Given the description of an element on the screen output the (x, y) to click on. 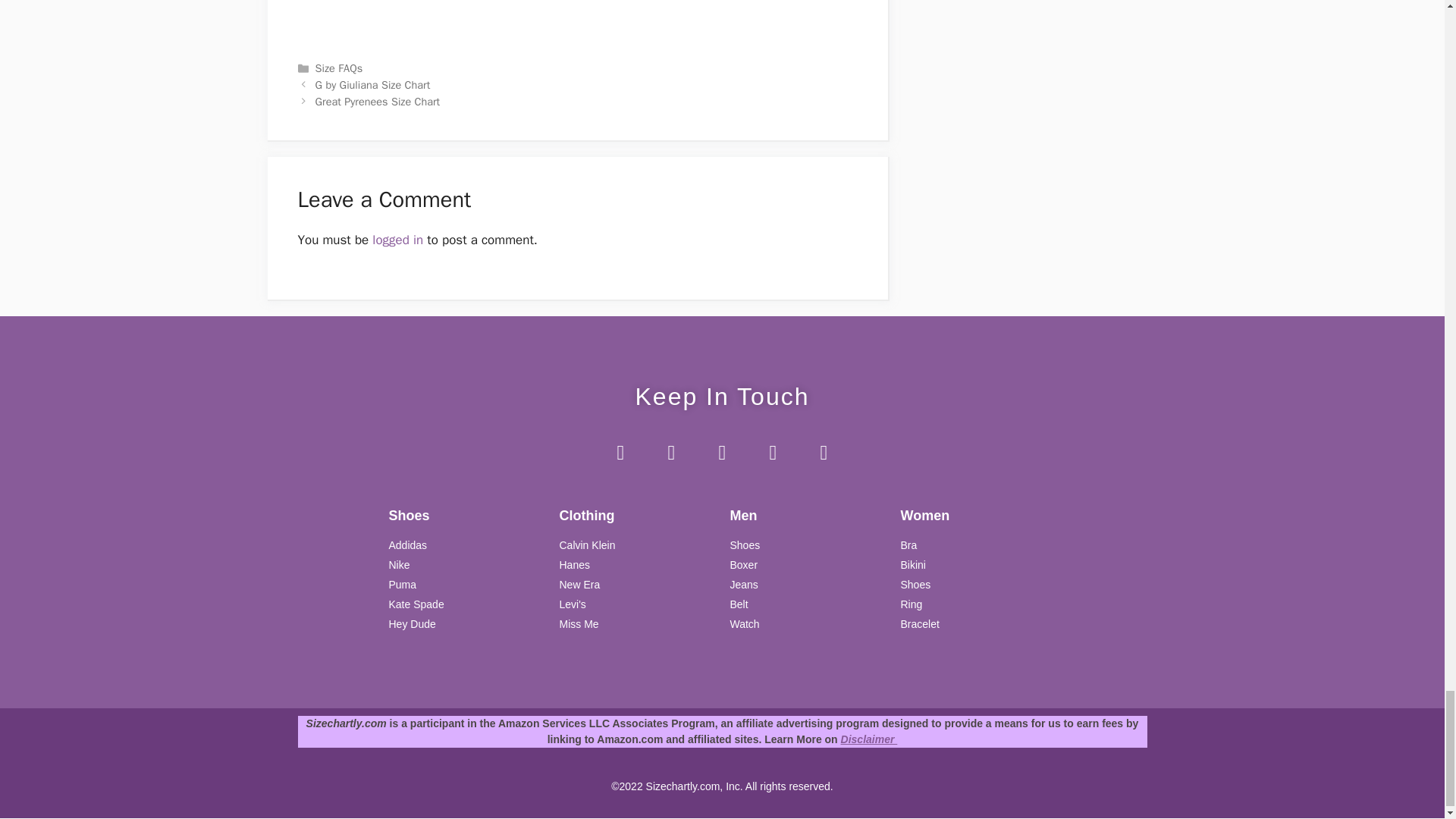
Shoes (979, 584)
Hey Dude (465, 624)
Addidas (465, 545)
Hanes (636, 565)
logged in (397, 239)
Jeans (807, 584)
Miss Me (636, 624)
Kate Spade (465, 604)
Bra (979, 545)
G by Giuliana Size Chart (372, 84)
